Given the description of an element on the screen output the (x, y) to click on. 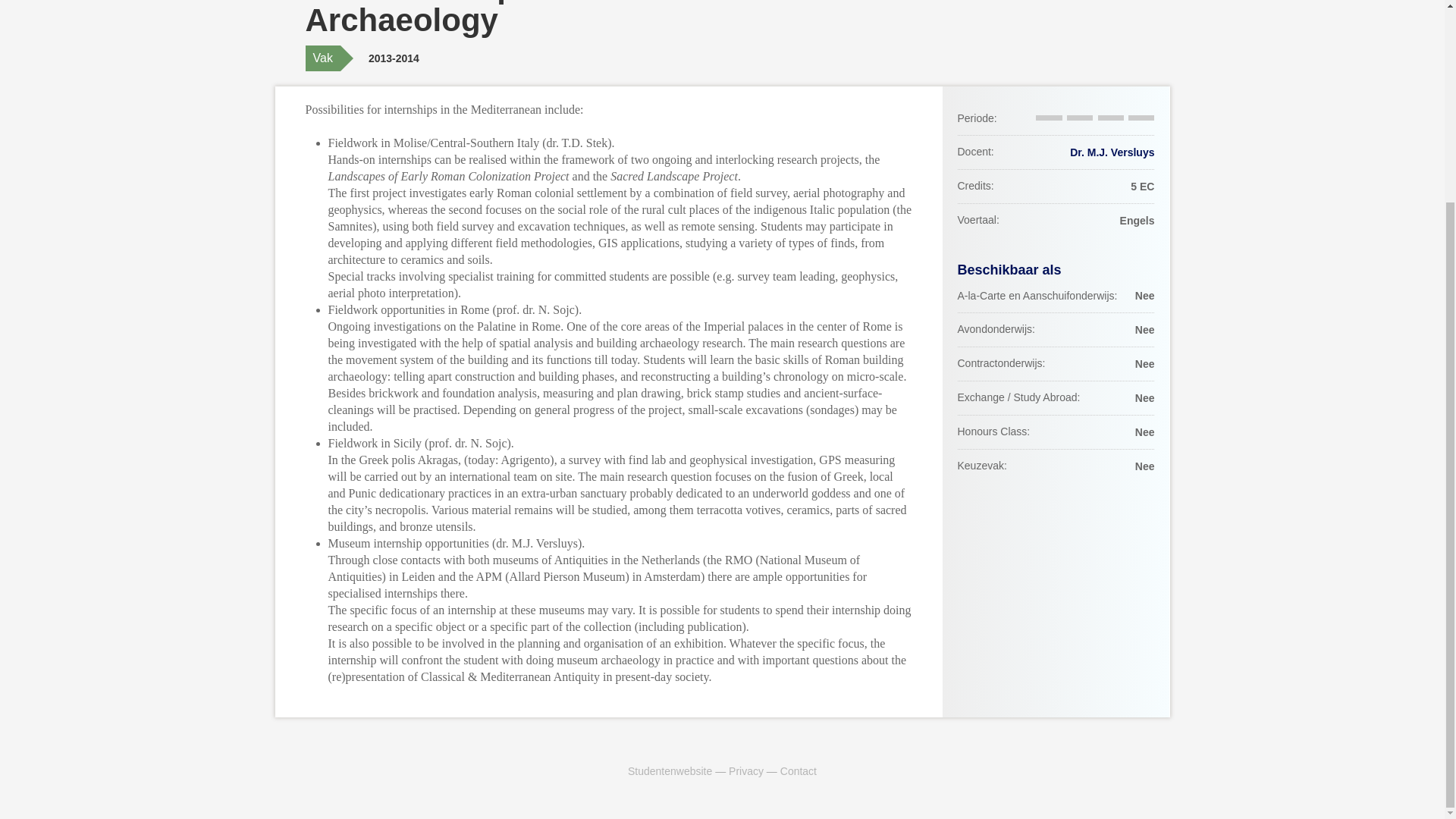
Dr. M.J. Versluys (1112, 152)
Studentenwebsite (669, 770)
Contact (798, 770)
Privacy (745, 770)
